Given the description of an element on the screen output the (x, y) to click on. 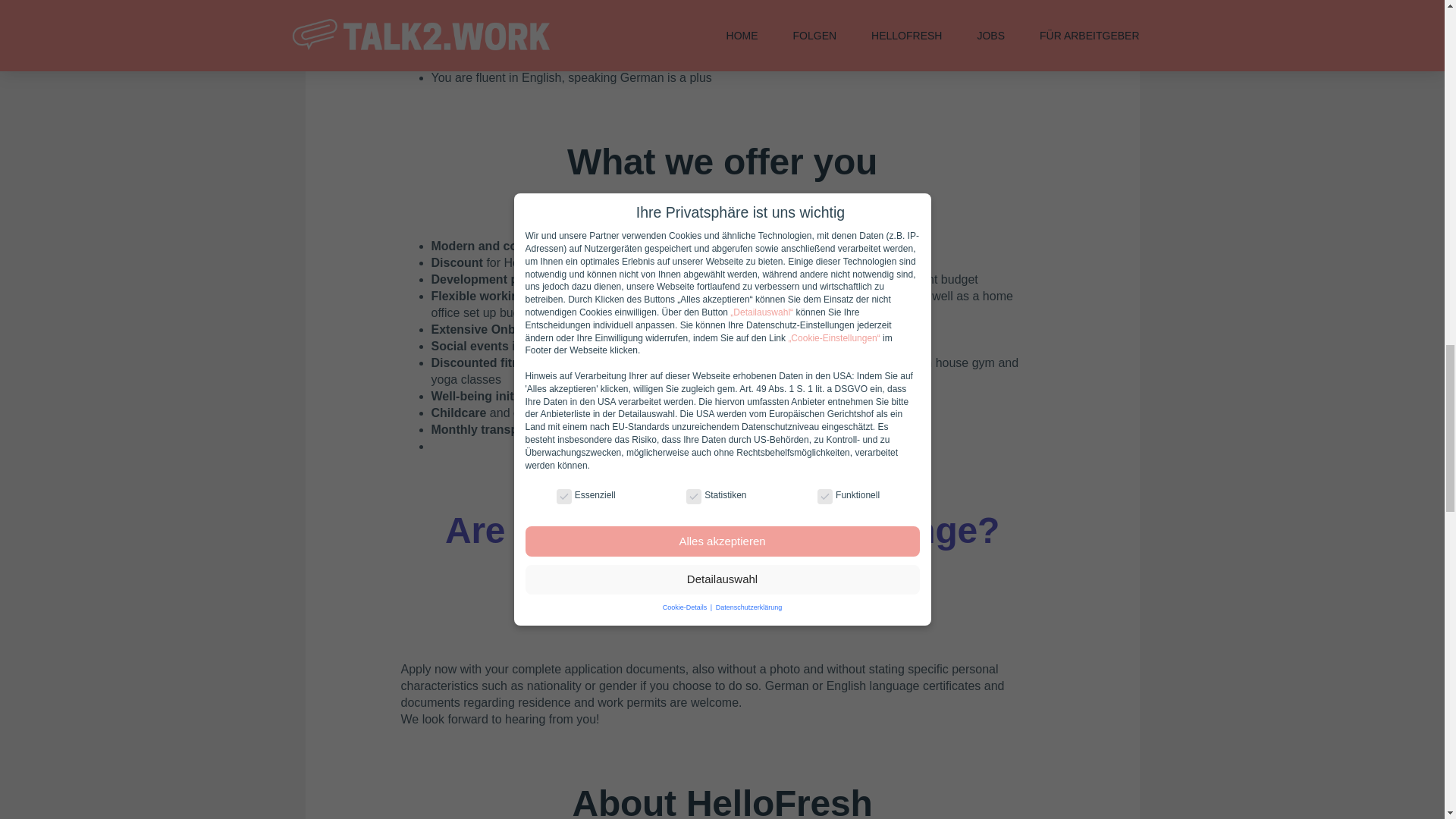
APPLY NOW (722, 586)
